Given the description of an element on the screen output the (x, y) to click on. 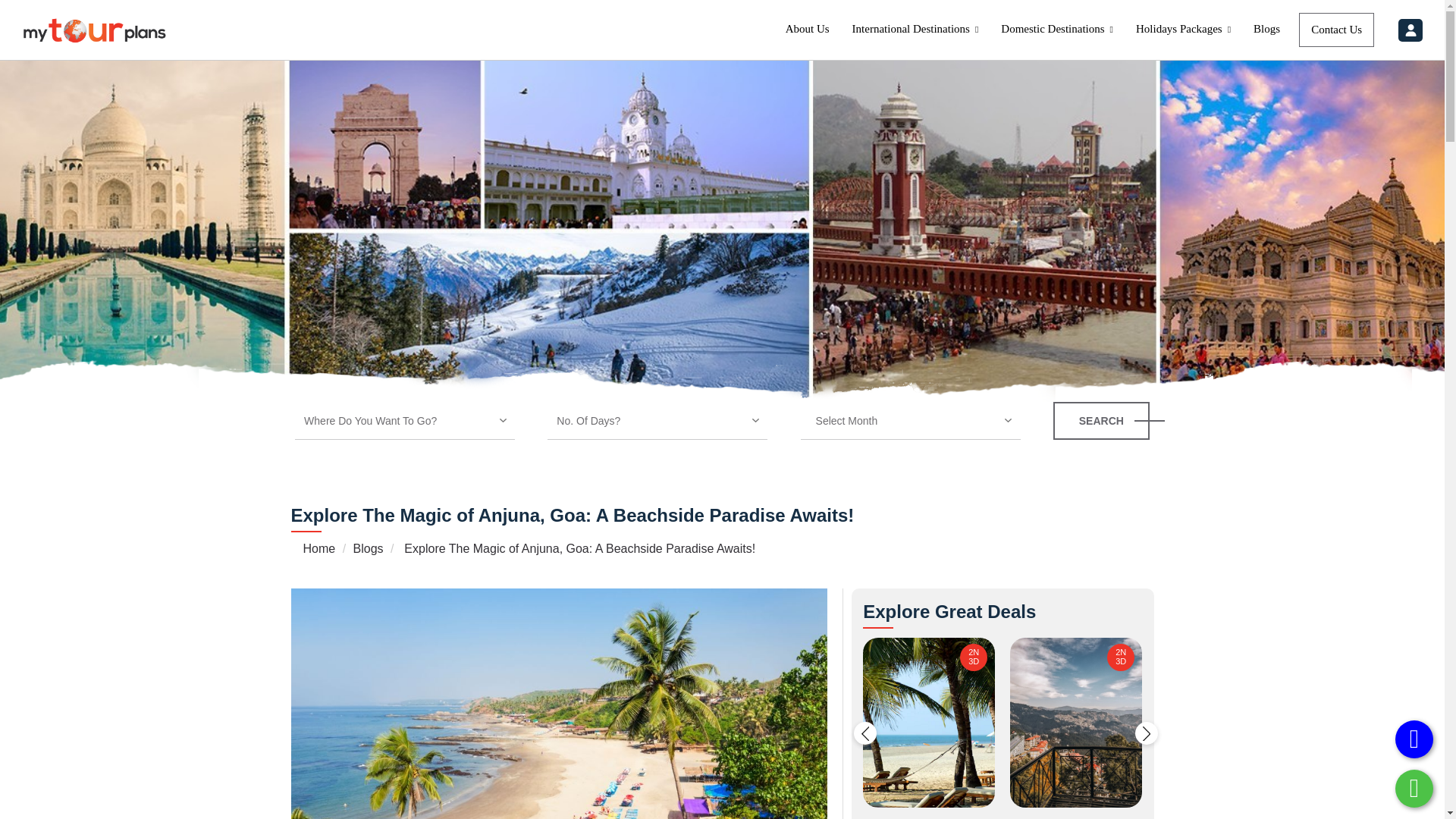
Blogs (1266, 29)
Holidays Packages (1182, 29)
SEARCH (1101, 420)
About Us (807, 29)
Contact Us (1336, 29)
International Destinations (915, 29)
Domestic Destinations (1057, 29)
SEARCH (1101, 420)
